Given the description of an element on the screen output the (x, y) to click on. 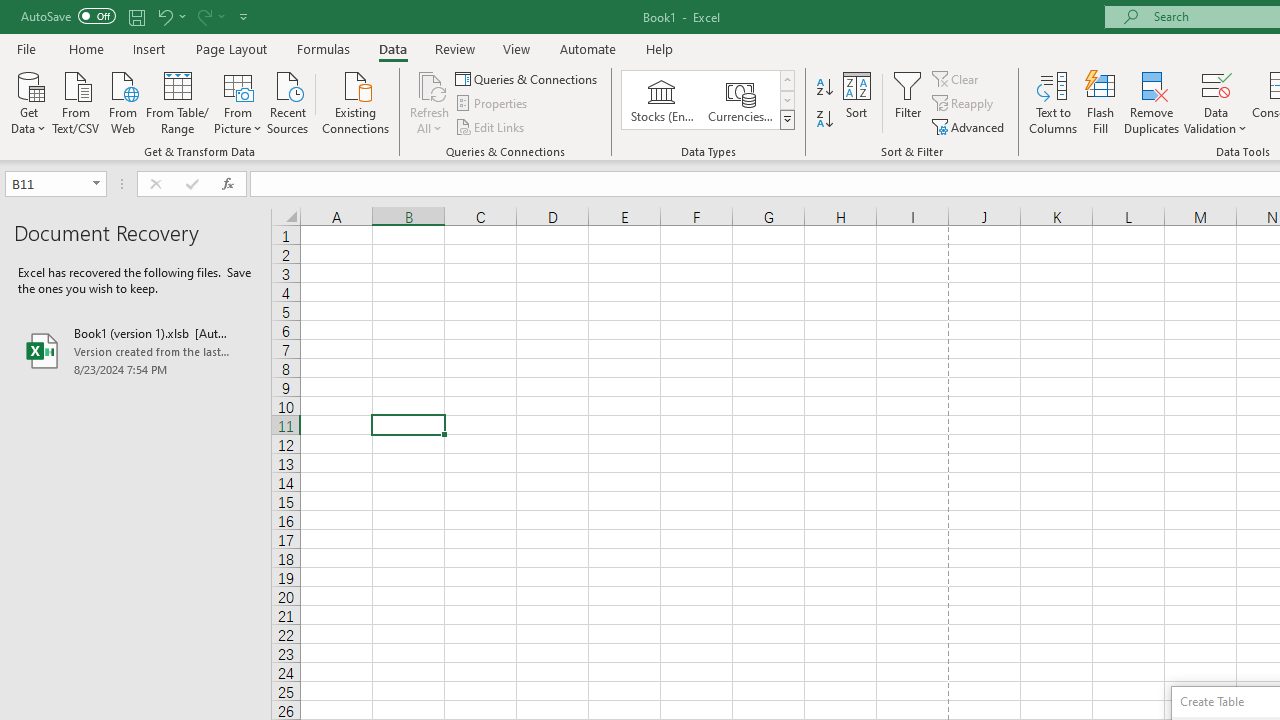
From Picture (238, 101)
